Given the description of an element on the screen output the (x, y) to click on. 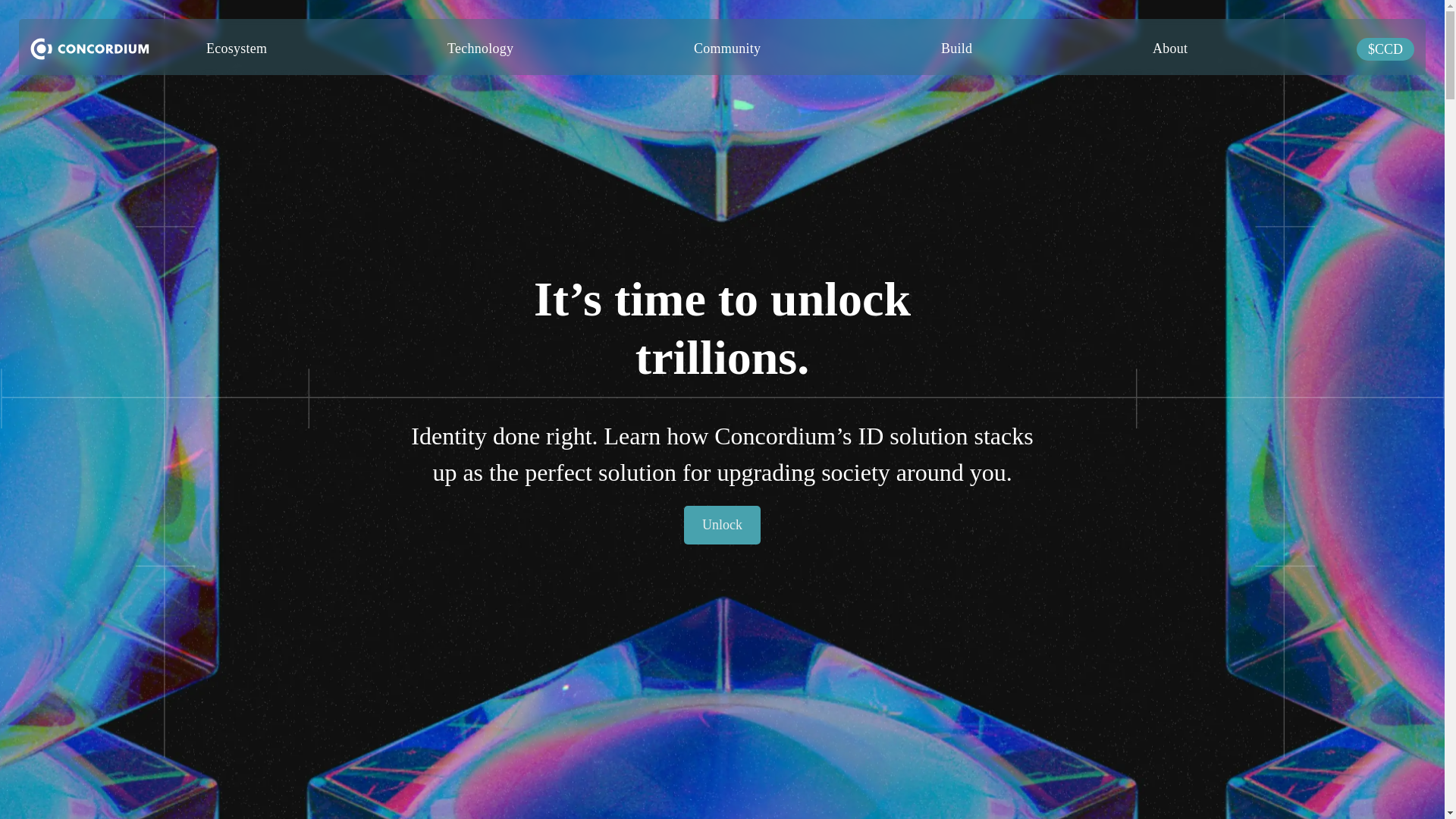
About (1169, 47)
Build (956, 47)
Technology (480, 47)
Unlock (722, 524)
Community (726, 47)
Ecosystem (236, 47)
